Given the description of an element on the screen output the (x, y) to click on. 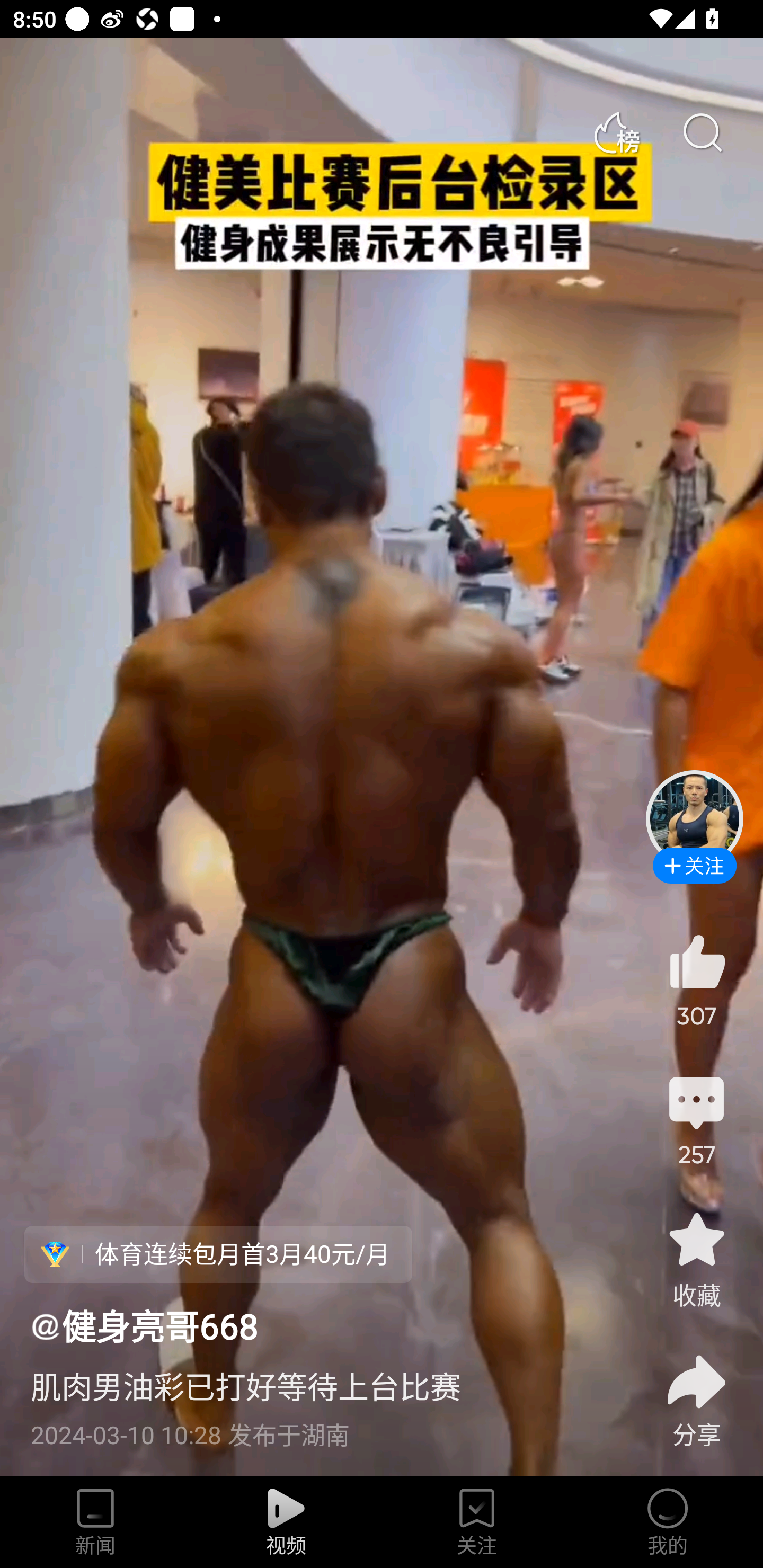
 热榜 (616, 133)
 搜索 (701, 133)
赞 307 (696, 979)
评论  257 (696, 1118)
收藏 (696, 1258)
体育连续包月首3月40元/月 (218, 1254)
健身亮哥668 (143, 1325)
分享  分享 (696, 1389)
肌肉男油彩已打好等待上台比赛 2024-03-10 10:28 发布于湖南 (321, 1399)
